Given the description of an element on the screen output the (x, y) to click on. 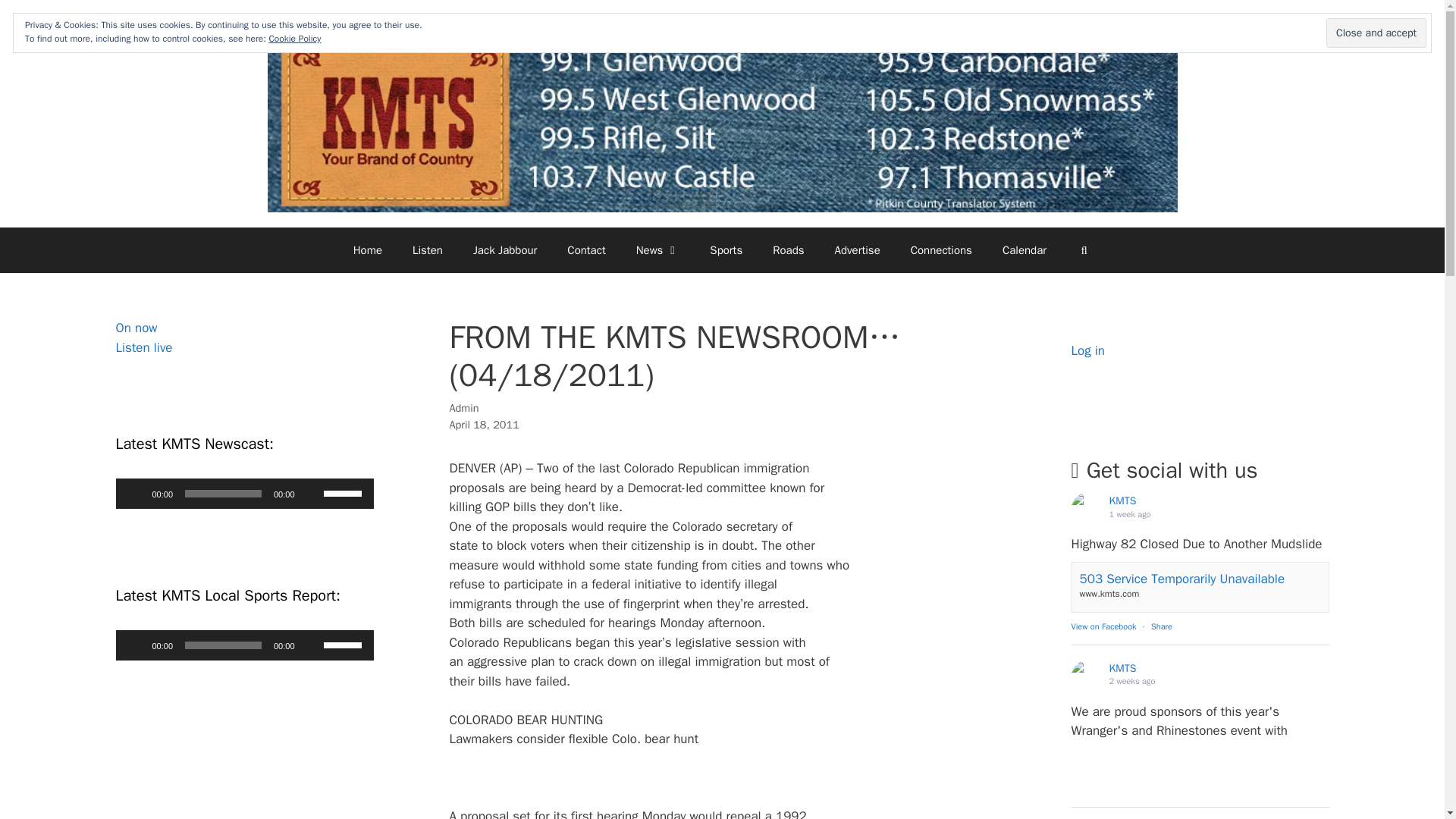
Close and accept (1376, 32)
Roads (787, 249)
Mute (310, 645)
Log in (1087, 350)
View on Facebook (1102, 625)
Share (1161, 625)
Posts by Admin (463, 407)
Connections (243, 337)
Play (941, 249)
